Given the description of an element on the screen output the (x, y) to click on. 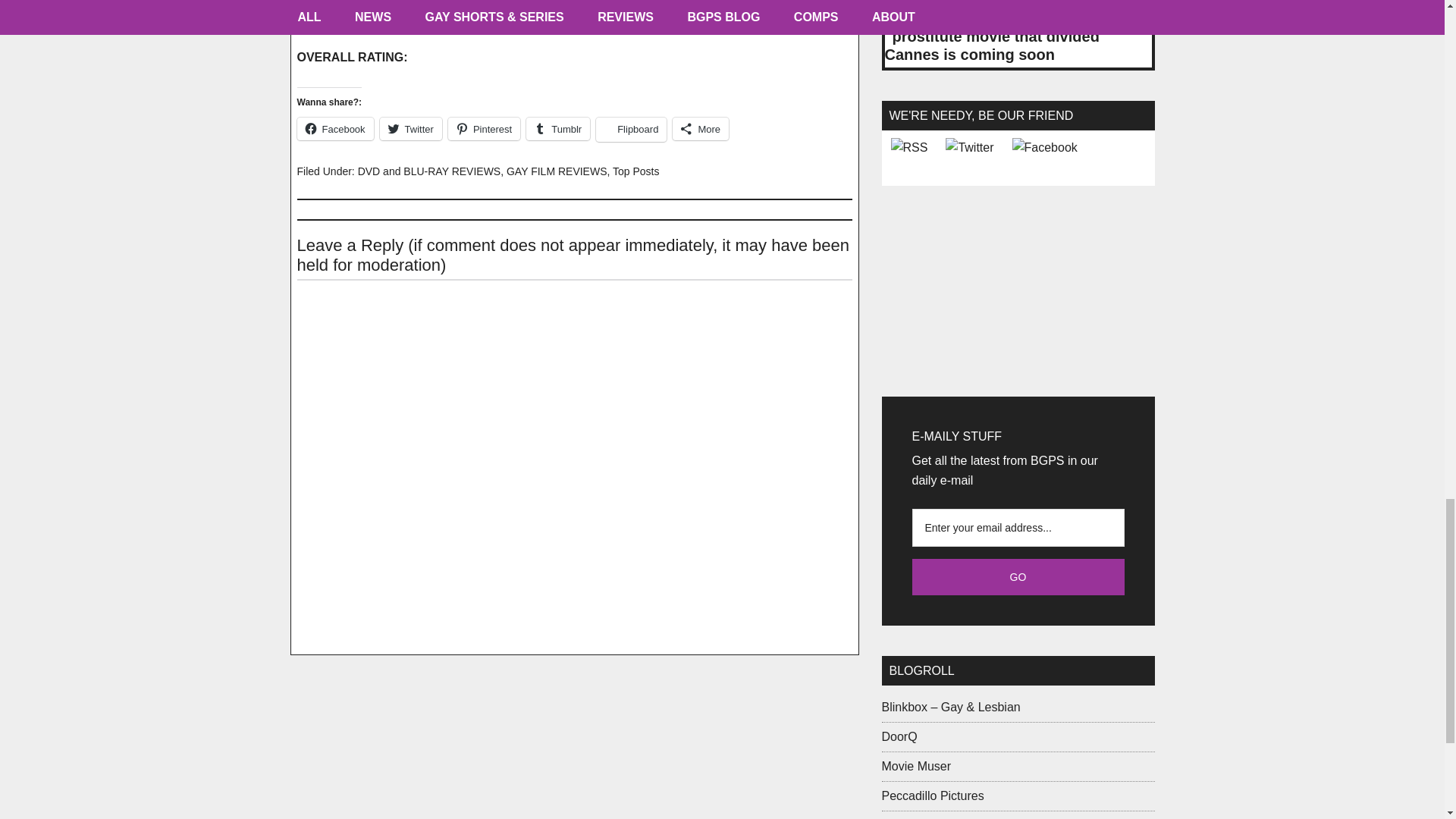
Twitter (411, 128)
Facebook (335, 128)
Click to share on Flipboard (630, 129)
Click to share on Facebook (335, 128)
Flipboard (630, 129)
Click to share on Tumblr (557, 128)
Tumblr (557, 128)
More (700, 128)
Pinterest (483, 128)
Click to share on Pinterest (483, 128)
